Given the description of an element on the screen output the (x, y) to click on. 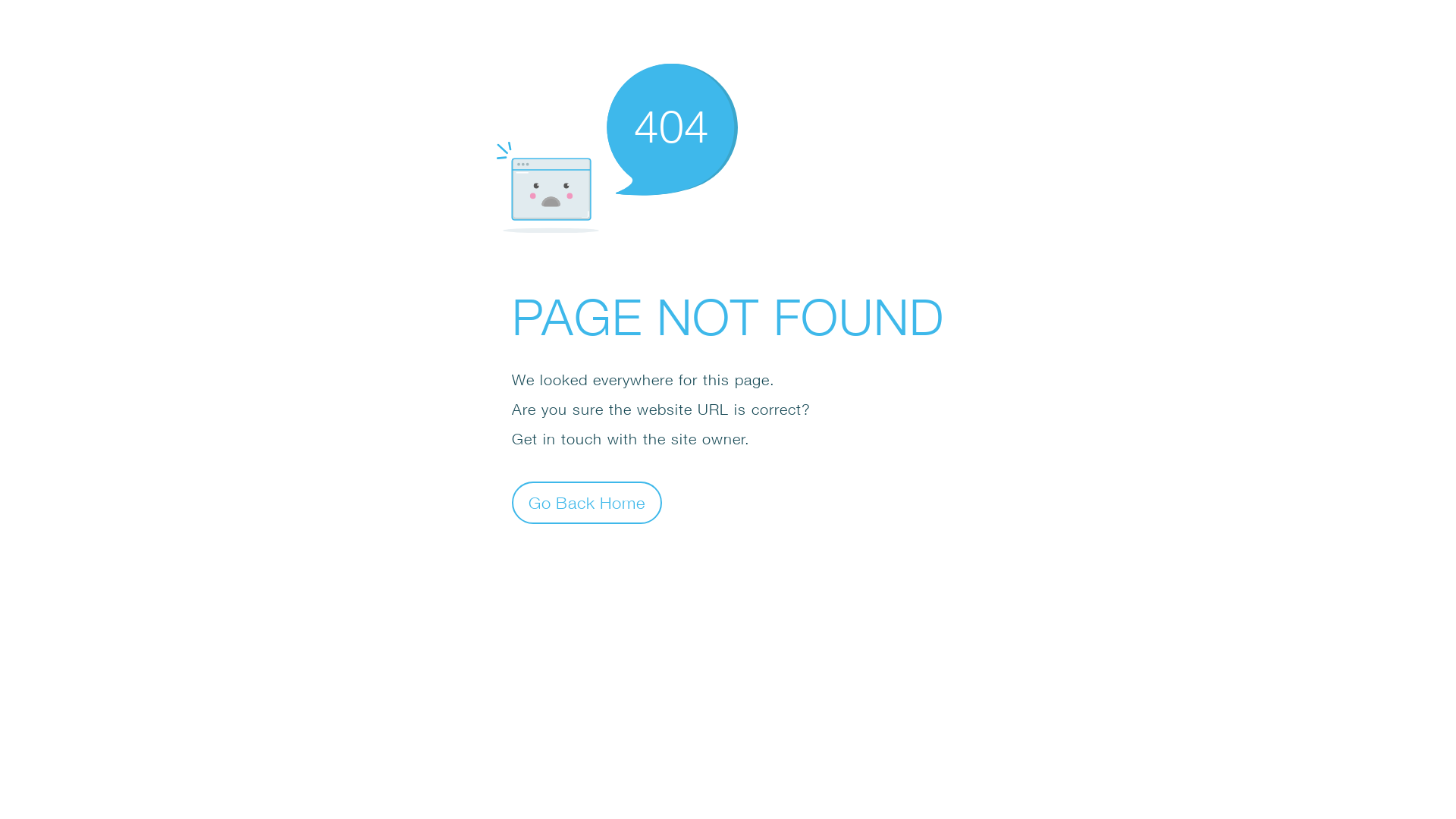
Go Back Home Element type: text (586, 502)
